Given the description of an element on the screen output the (x, y) to click on. 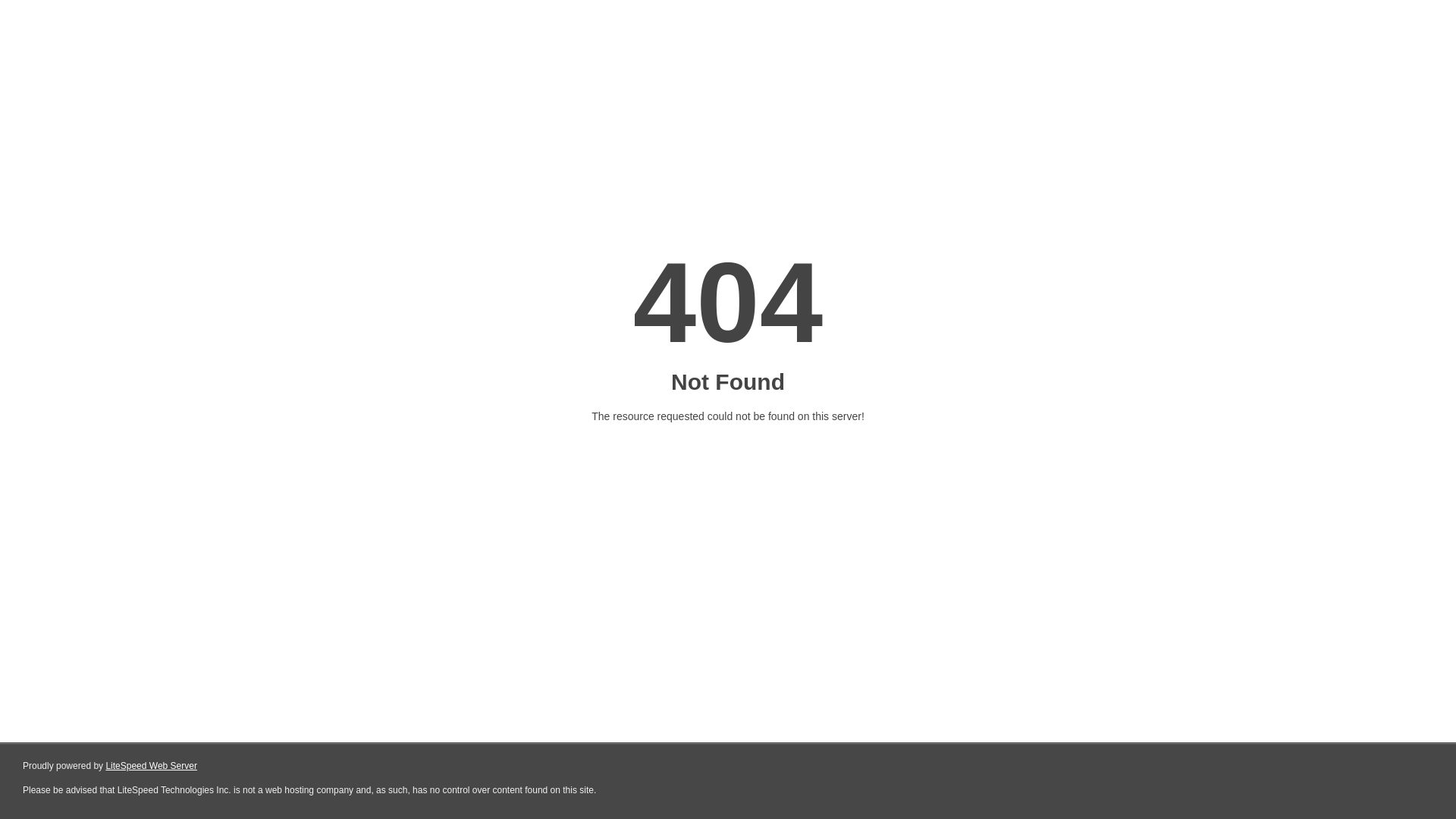
LiteSpeed Web Server (150, 765)
